Given the description of an element on the screen output the (x, y) to click on. 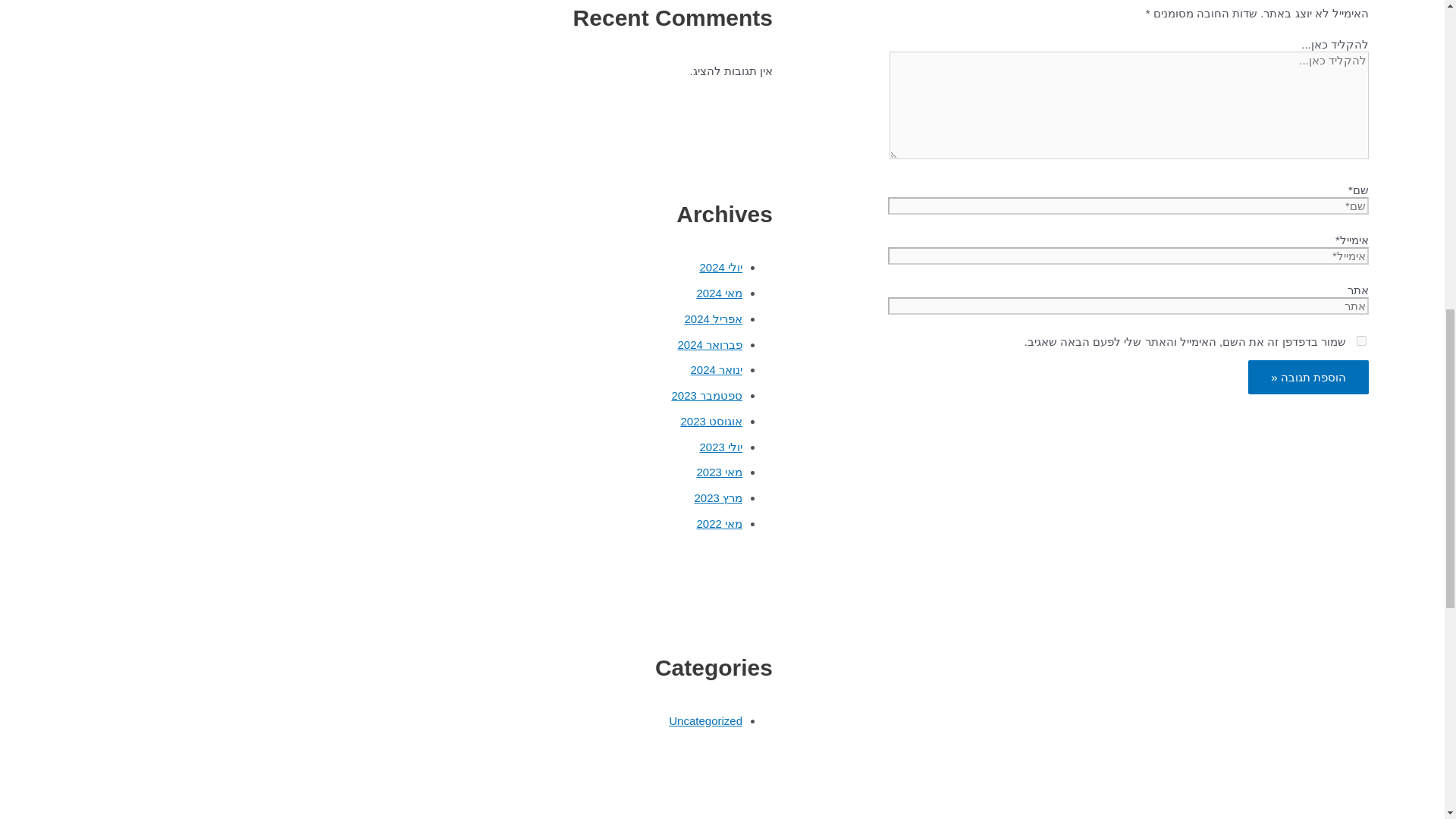
yes (1361, 340)
